Given the description of an element on the screen output the (x, y) to click on. 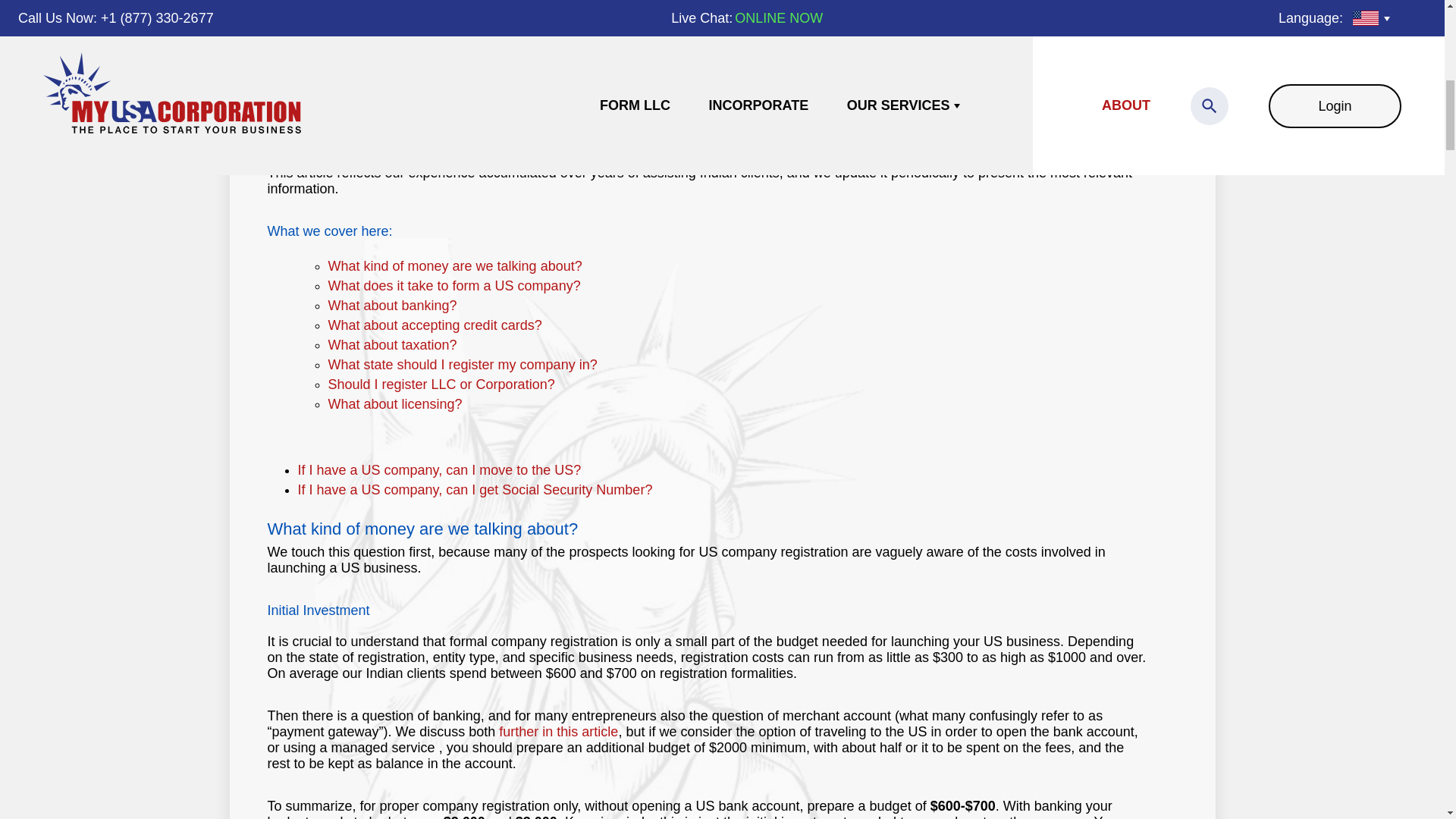
What about taxation? (392, 344)
What about accepting credit cards? (434, 324)
What state should I register my company in? (461, 364)
What kind of money are we talking about? (453, 265)
What does it take to form a US company? (453, 285)
Should I register LLC or Corporation? (440, 384)
What about banking? (392, 305)
